Given the description of an element on the screen output the (x, y) to click on. 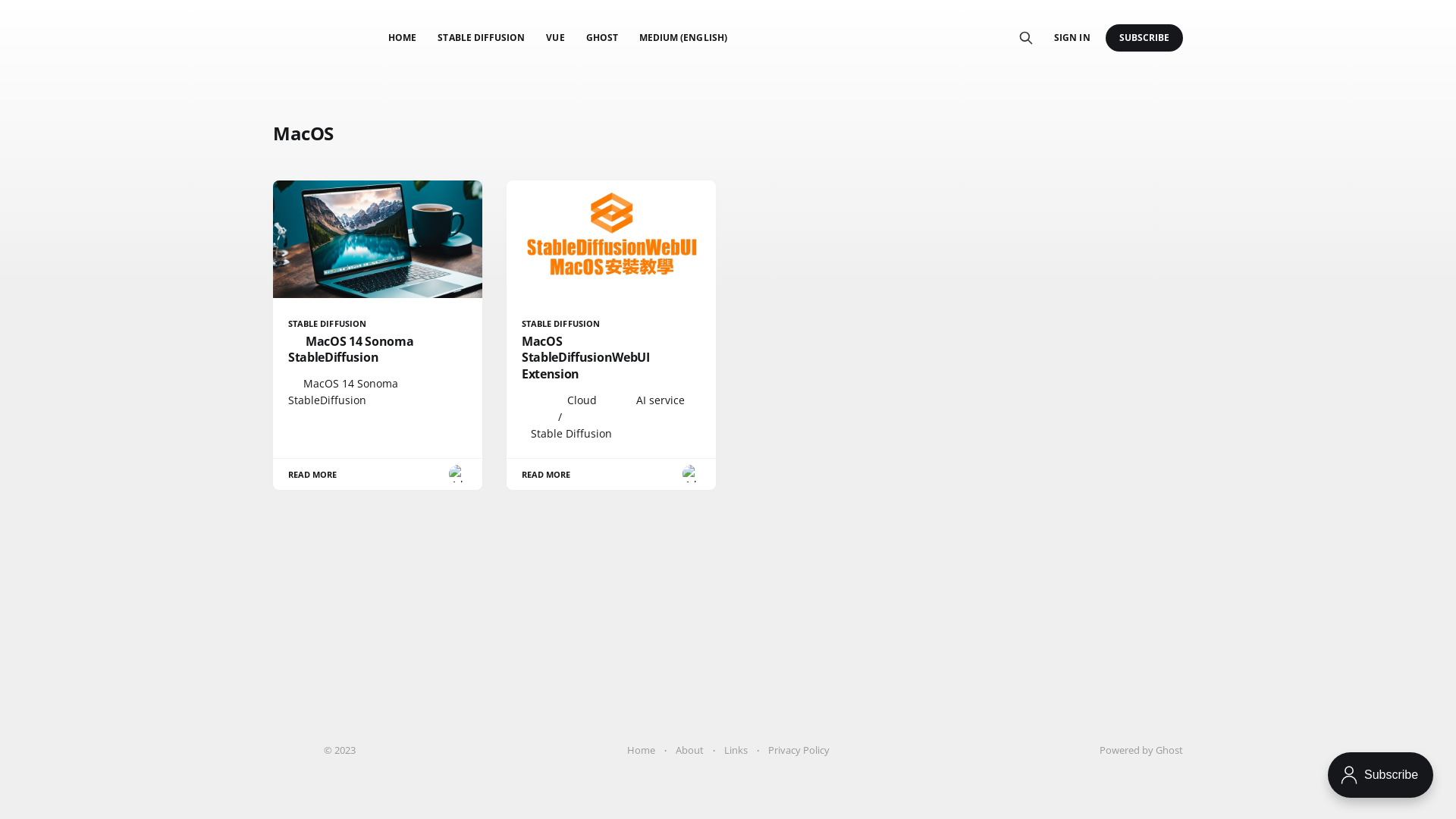
Privacy Policy Element type: text (797, 750)
VUE Element type: text (555, 37)
SIGN IN Element type: text (1071, 37)
HOME Element type: text (402, 37)
Powered by Ghost Element type: text (1141, 749)
Links Element type: text (734, 750)
STABLE DIFFUSION Element type: text (480, 37)
SUBSCRIBE Element type: text (1144, 37)
Home Element type: text (640, 750)
MEDIUM (ENGLISH) Element type: text (683, 37)
GHOST Element type: text (602, 37)
About Element type: text (688, 750)
